Given the description of an element on the screen output the (x, y) to click on. 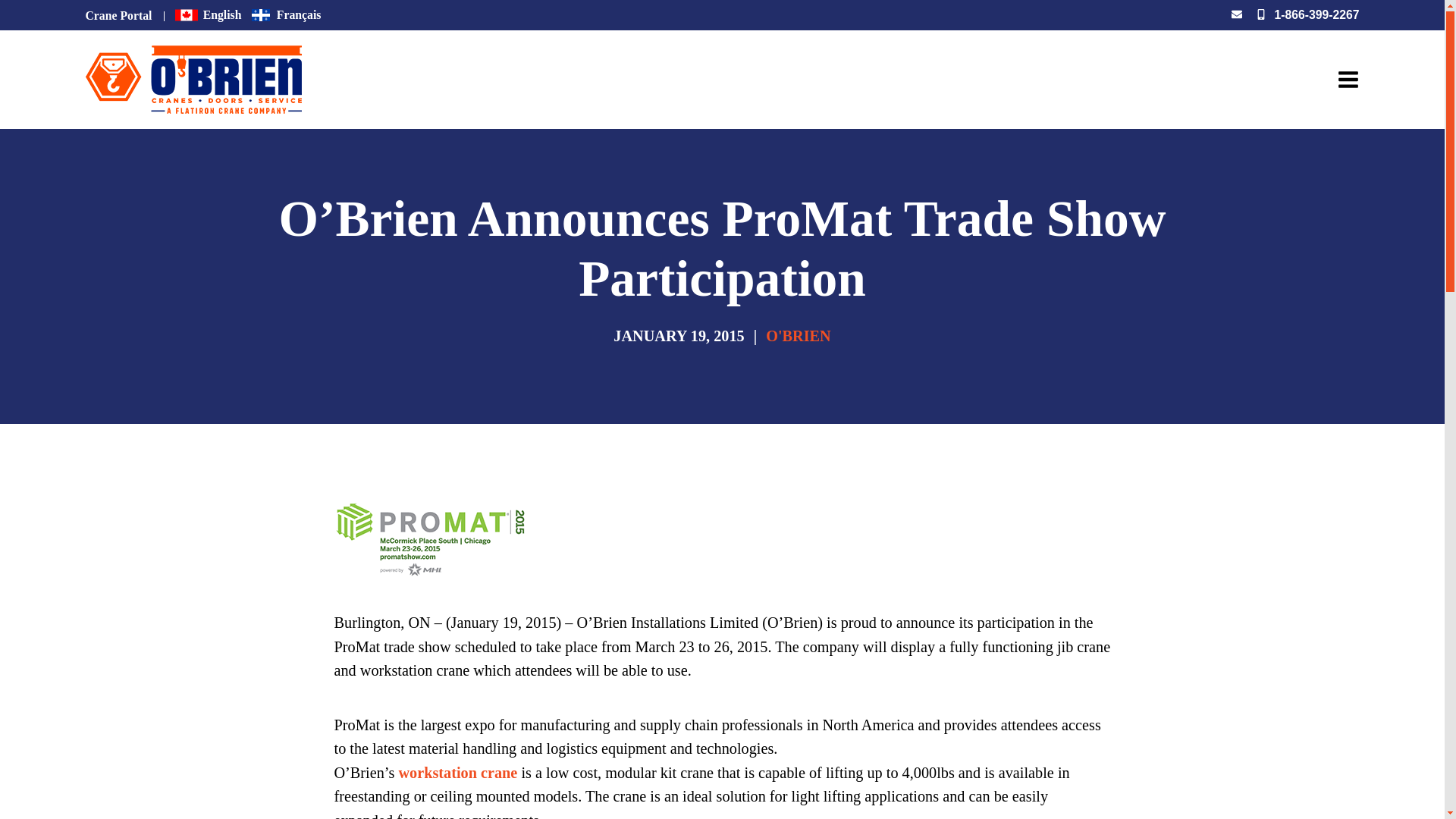
English (207, 14)
1-866-399-2267 (1316, 14)
Crane Portal (117, 14)
